Given the description of an element on the screen output the (x, y) to click on. 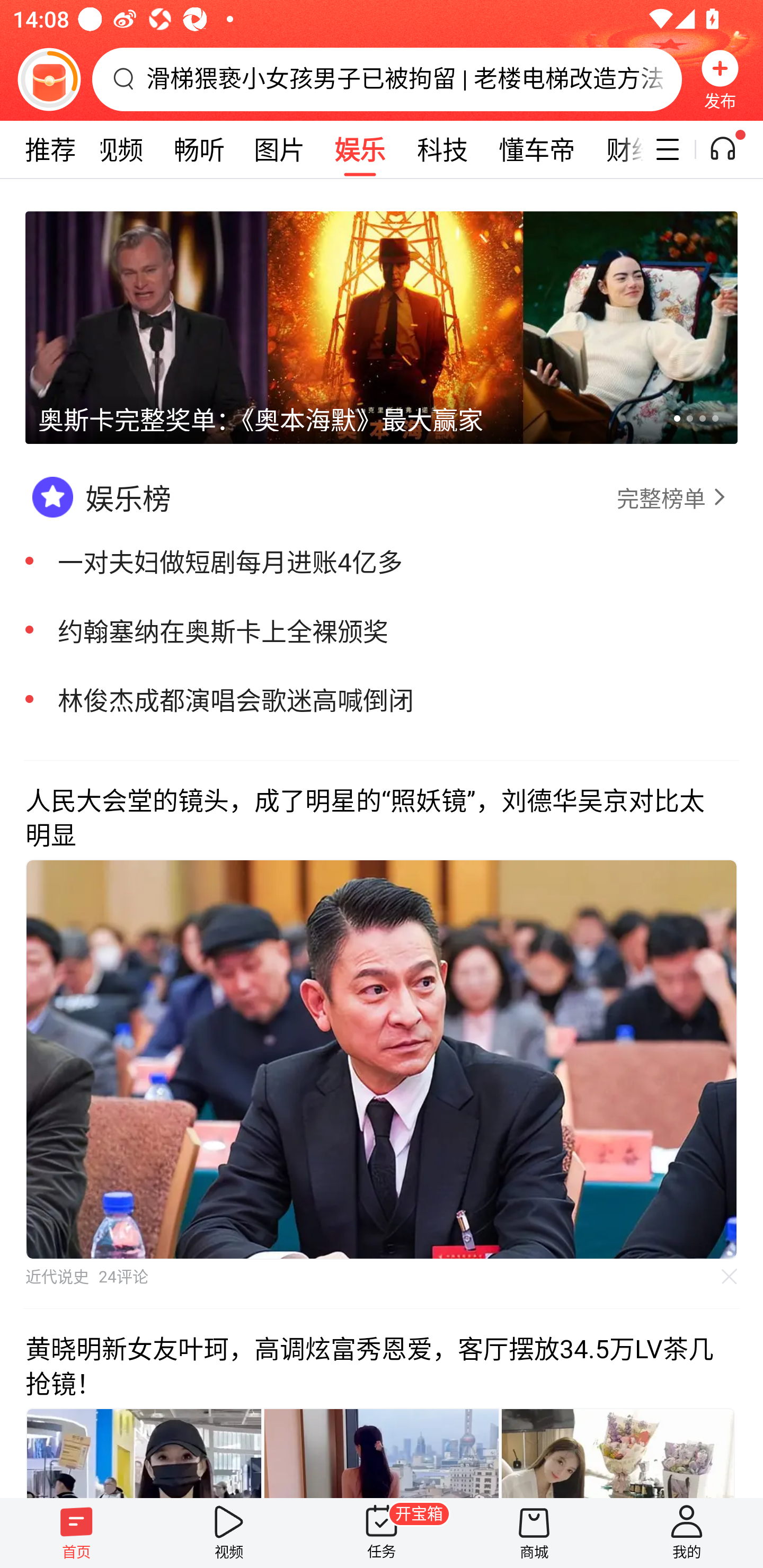
阅读赚金币 (48, 79)
发布 发布，按钮 (720, 78)
发现 (38, 149)
视频 (117, 149)
畅听 (199, 149)
图片 (279, 149)
娱乐 (359, 149)
科技 (442, 149)
懂车帝 (536, 149)
听一听开关 (732, 149)
不感兴趣 (729, 1276)
首页 (76, 1532)
视频 (228, 1532)
任务 开宝箱 (381, 1532)
商城 (533, 1532)
我的 (686, 1532)
